Given the description of an element on the screen output the (x, y) to click on. 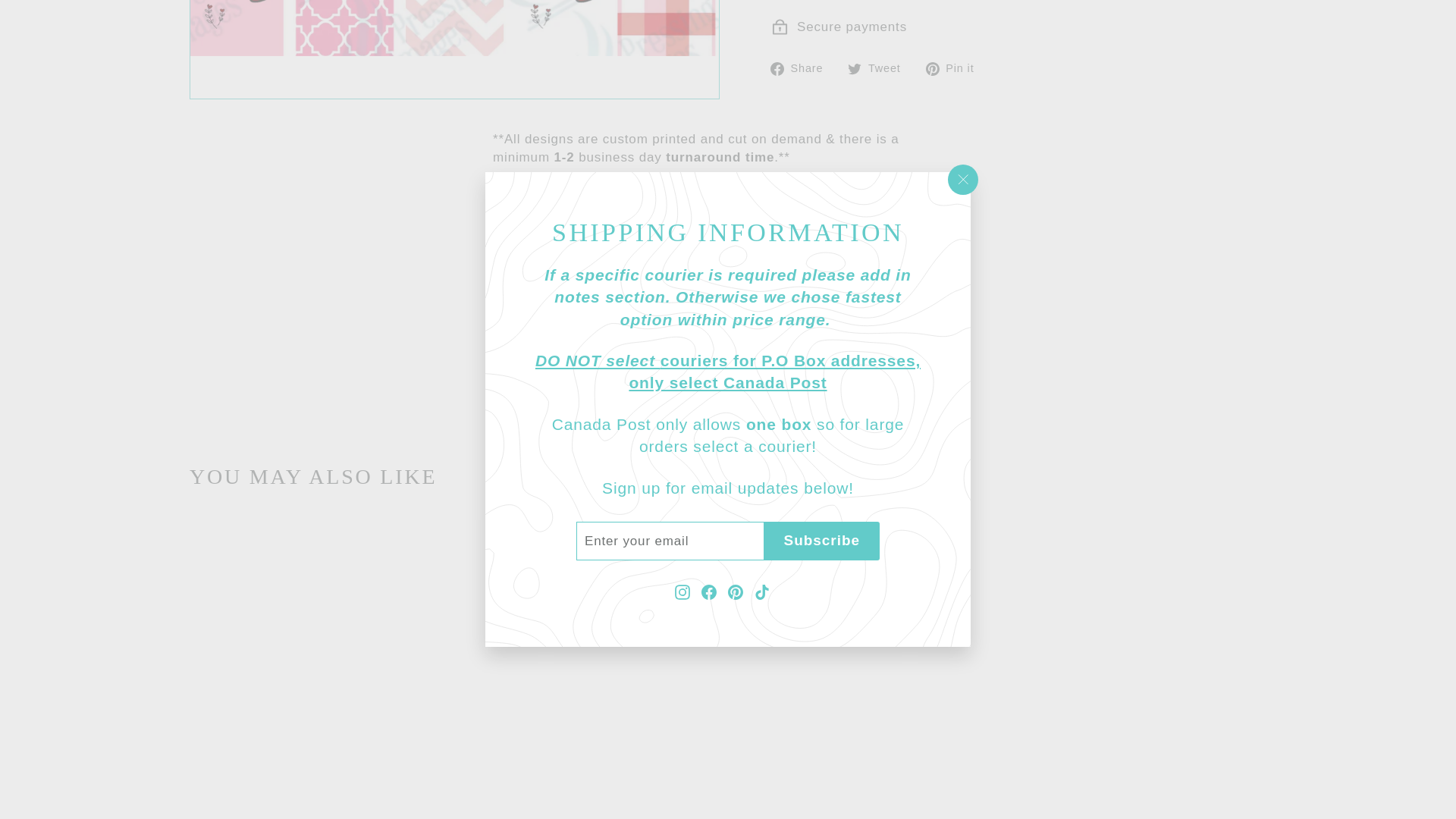
Tweet on Twitter (879, 67)
twitter (854, 69)
